Given the description of an element on the screen output the (x, y) to click on. 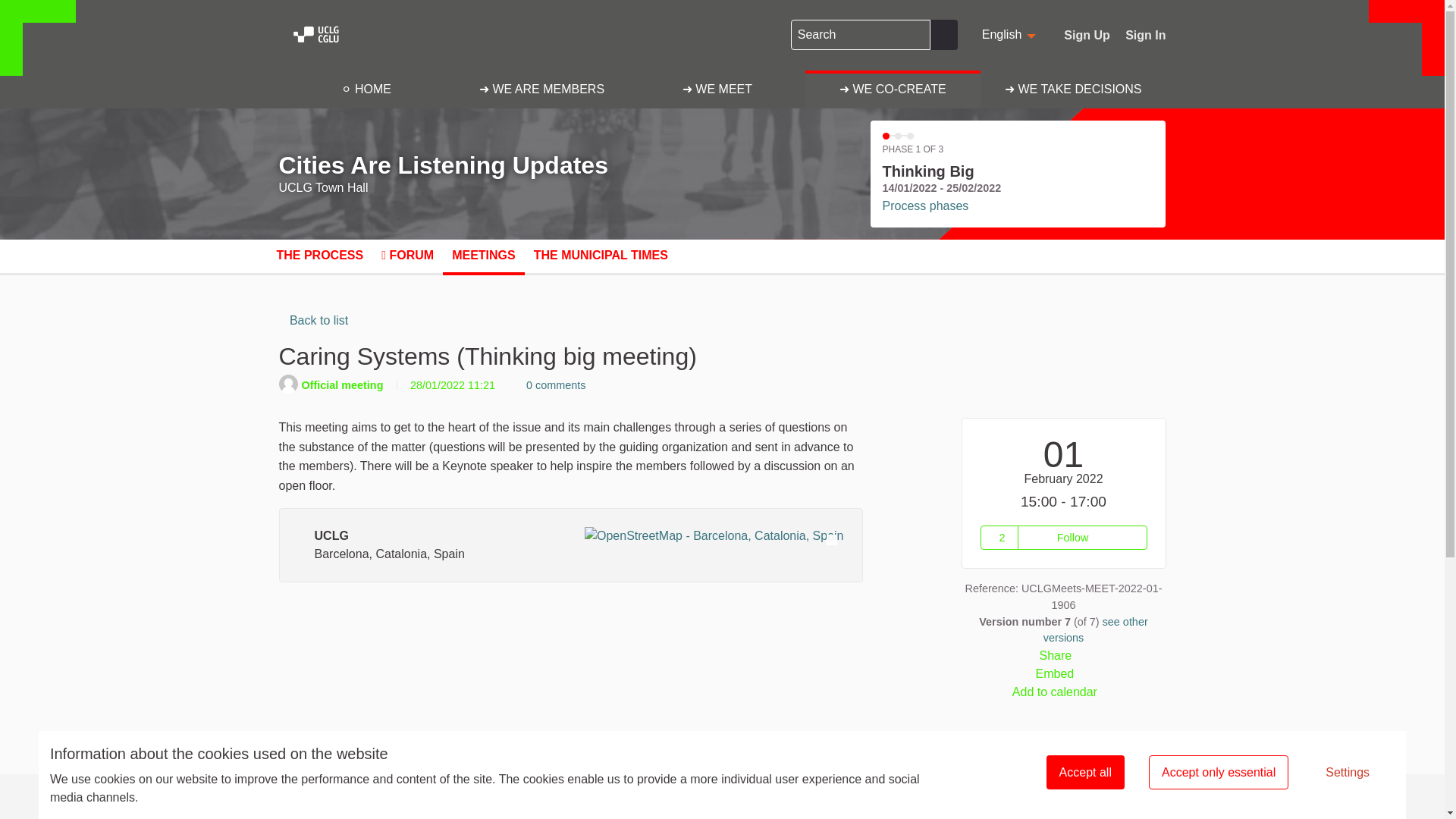
Sign Up (1086, 34)
Share share (1063, 655)
comment-square (519, 385)
Embed code (1063, 673)
Process phases (925, 205)
Accept only essential (1218, 772)
see other versions (1095, 629)
Settings (1347, 772)
code (1010, 34)
Sign In (1085, 672)
chevron-left (1145, 34)
THE MUNICIPAL TIMES (282, 320)
Accept all (601, 255)
Report (1085, 772)
